Given the description of an element on the screen output the (x, y) to click on. 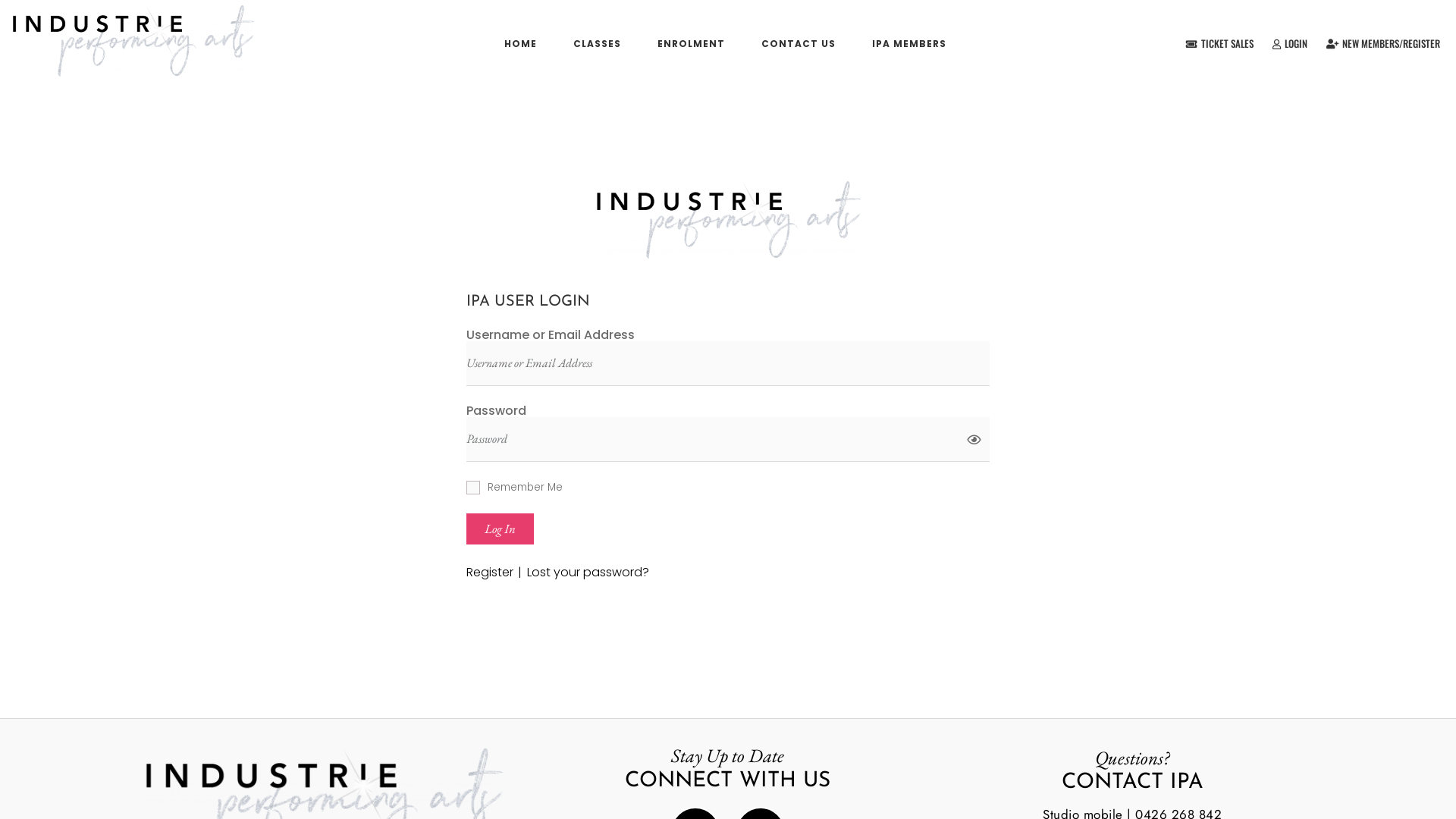
IPA MEMBERS Element type: text (909, 43)
NEW MEMBERS/REGISTER Element type: text (1383, 43)
CONTACT US Element type: text (798, 43)
LOGIN Element type: text (1289, 43)
ENROLMENT Element type: text (690, 43)
TICKET SALES Element type: text (1219, 43)
HOME Element type: text (520, 43)
Lost your password? Element type: text (588, 572)
CLASSES Element type: text (597, 43)
Log In Element type: text (499, 528)
Register Element type: text (496, 572)
